Given the description of an element on the screen output the (x, y) to click on. 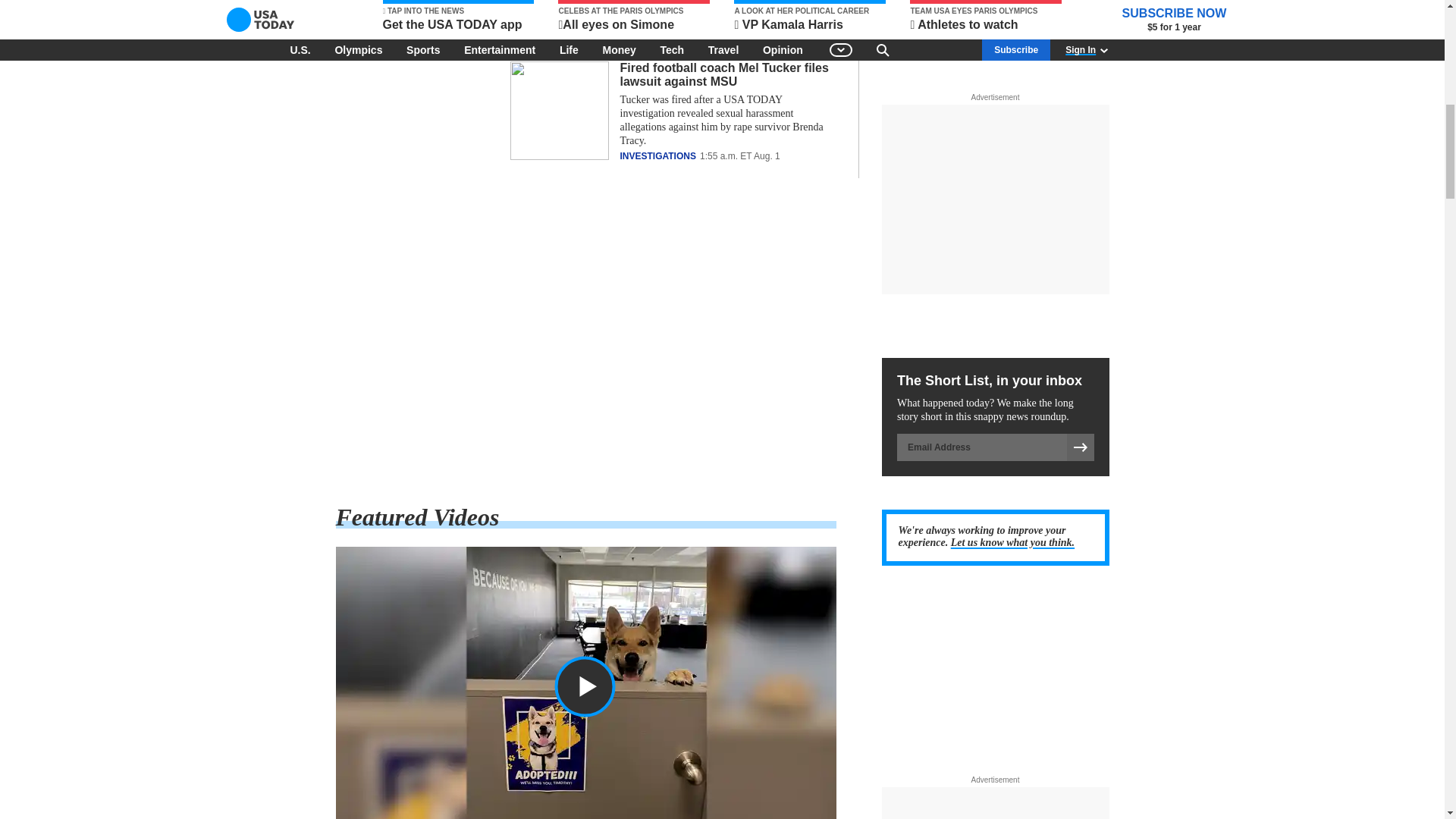
Olympic Results (584, 340)
